Given the description of an element on the screen output the (x, y) to click on. 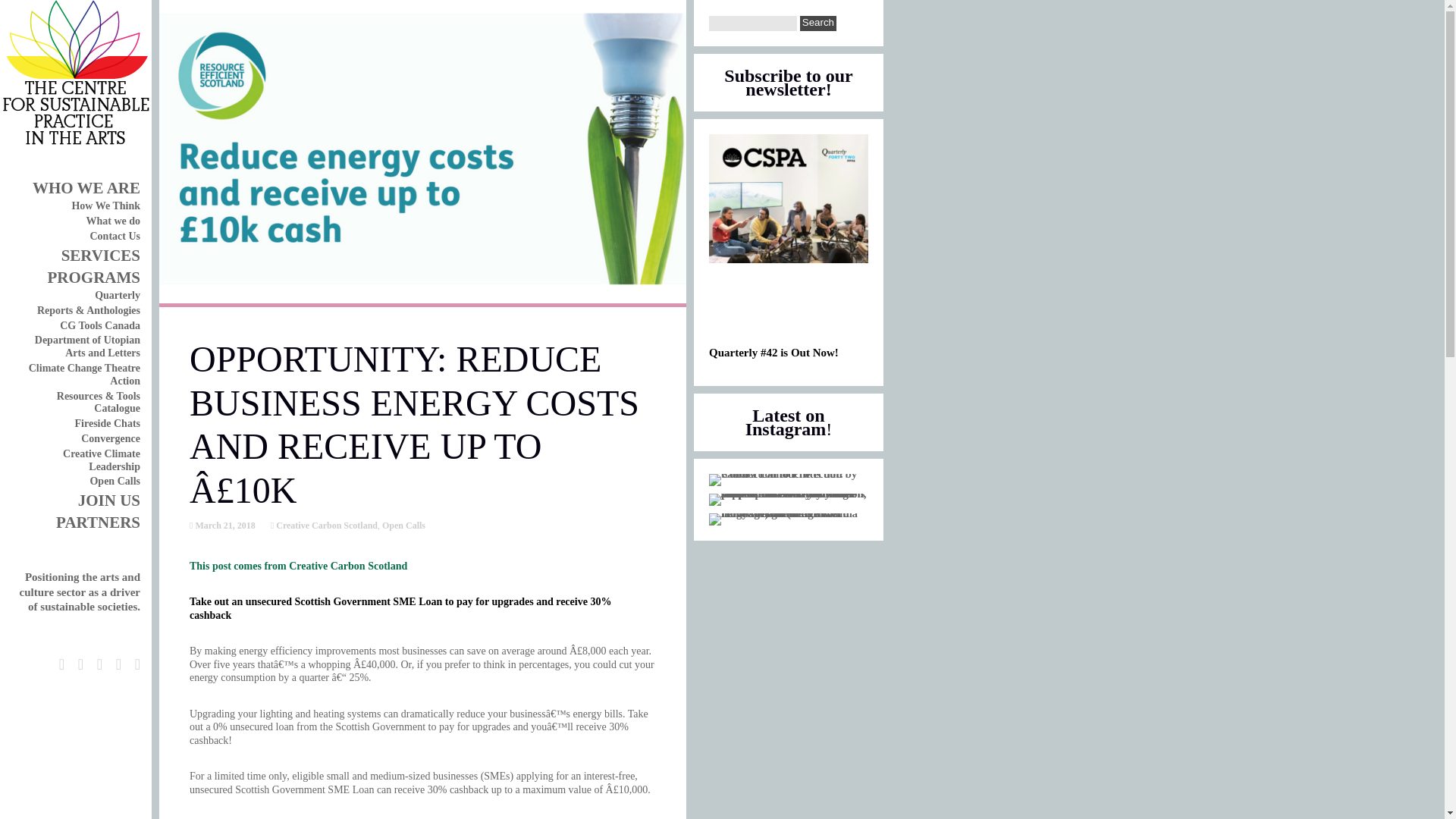
Contact Us (113, 235)
CG Tools Canada (99, 325)
This post comes from Creative Carbon Scotland (298, 565)
Climate Change Theatre Action (84, 374)
Open Calls (403, 525)
Creative Climate Leadership (100, 459)
Quarterly (116, 295)
What we do (112, 220)
March 21, 2018 (223, 525)
